Given the description of an element on the screen output the (x, y) to click on. 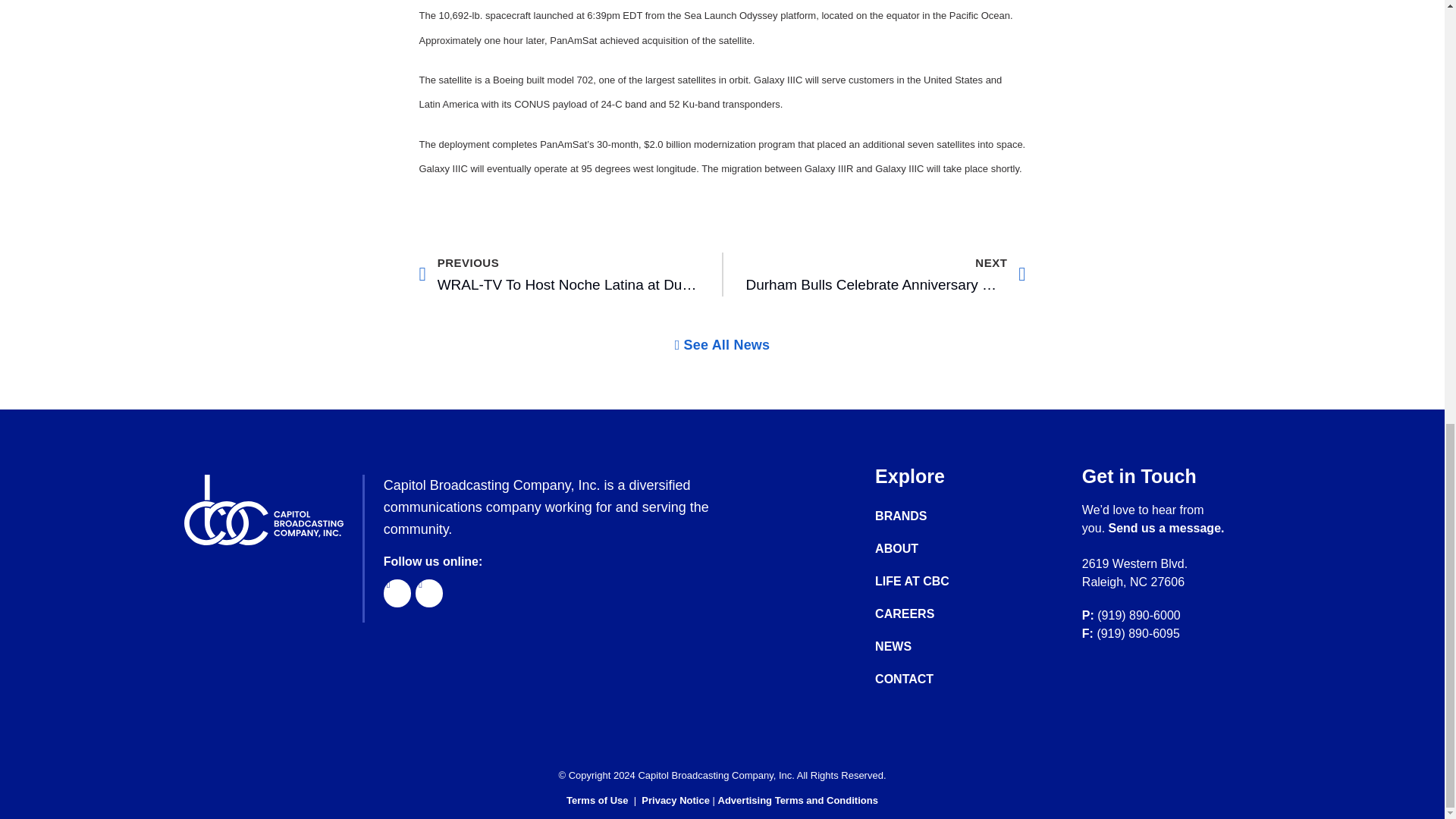
ABOUT (926, 548)
LIFE AT CBC (558, 274)
CAREERS (926, 581)
BRANDS (926, 613)
Terms of Use (926, 516)
See All News (596, 799)
Send us a message. (722, 345)
NEWS (1166, 527)
CONTACT (926, 646)
Privacy Notice (926, 679)
